Given the description of an element on the screen output the (x, y) to click on. 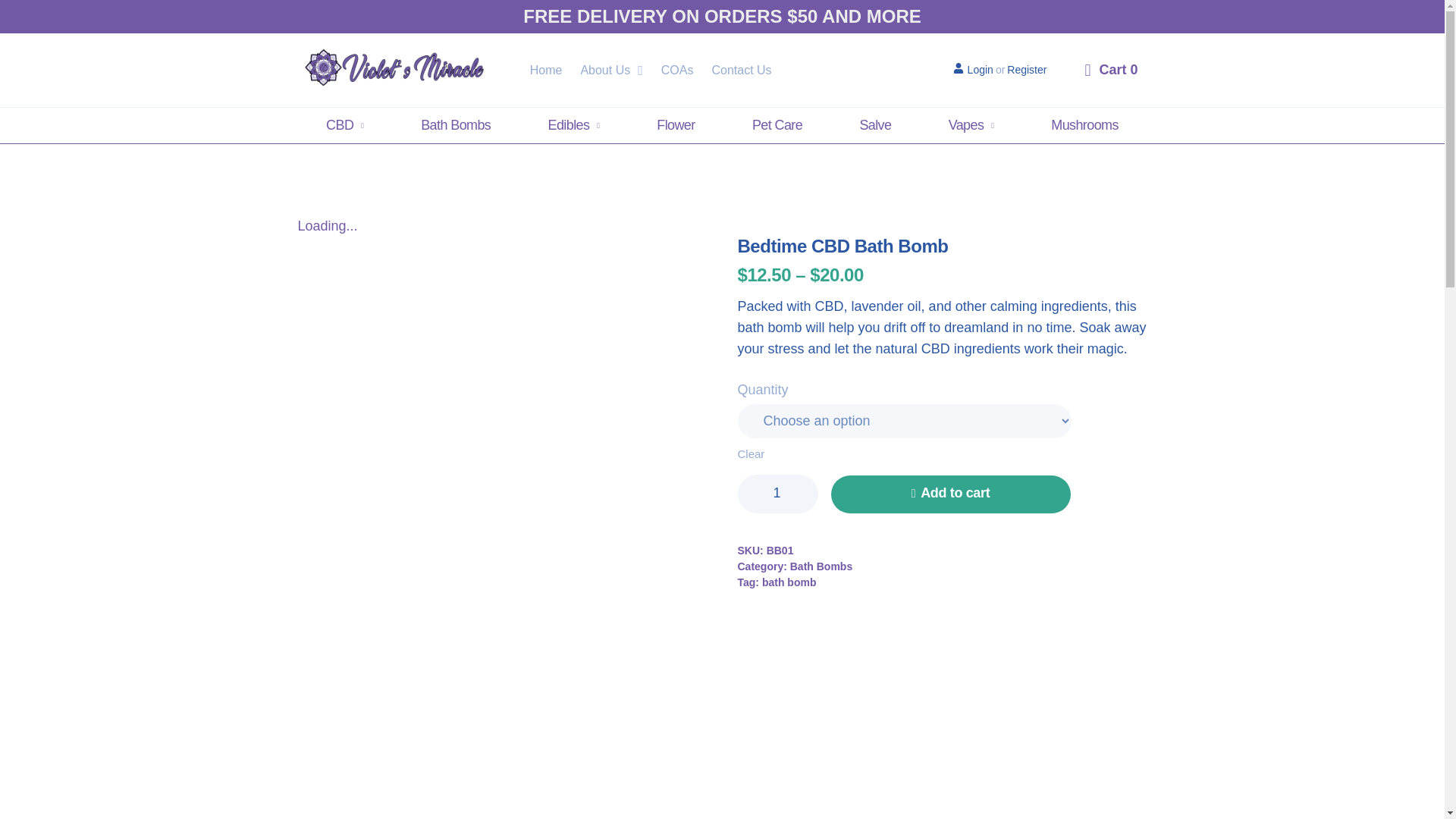
1 (776, 494)
Register (1026, 69)
Home (545, 70)
View your shopping cart (1110, 80)
Bath Bombs (456, 125)
Login (972, 69)
Mushrooms (1085, 125)
Pet Care (776, 125)
Flower (675, 125)
COAs (677, 70)
